Given the description of an element on the screen output the (x, y) to click on. 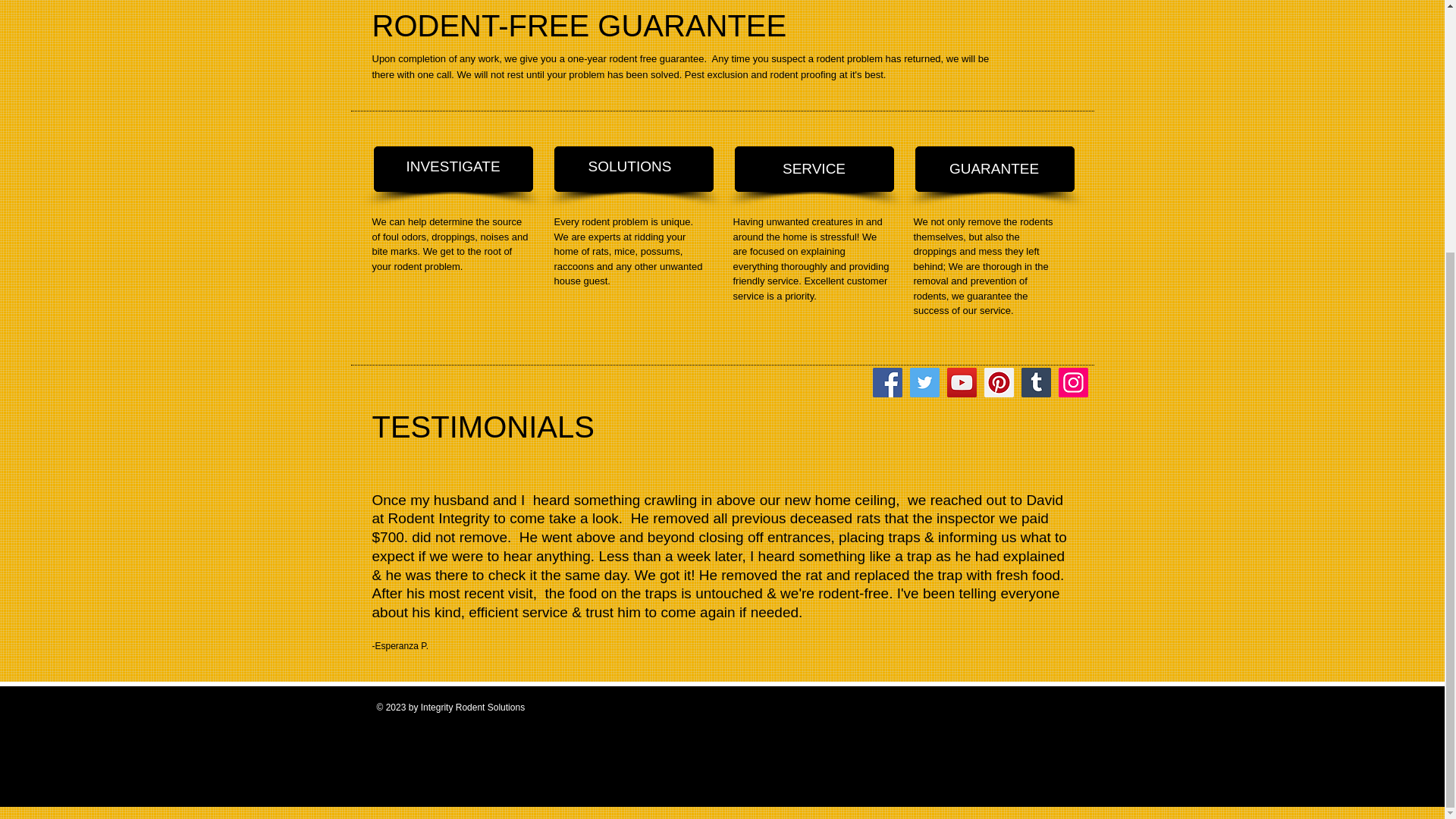
TESTIMONIALS (482, 426)
